Given the description of an element on the screen output the (x, y) to click on. 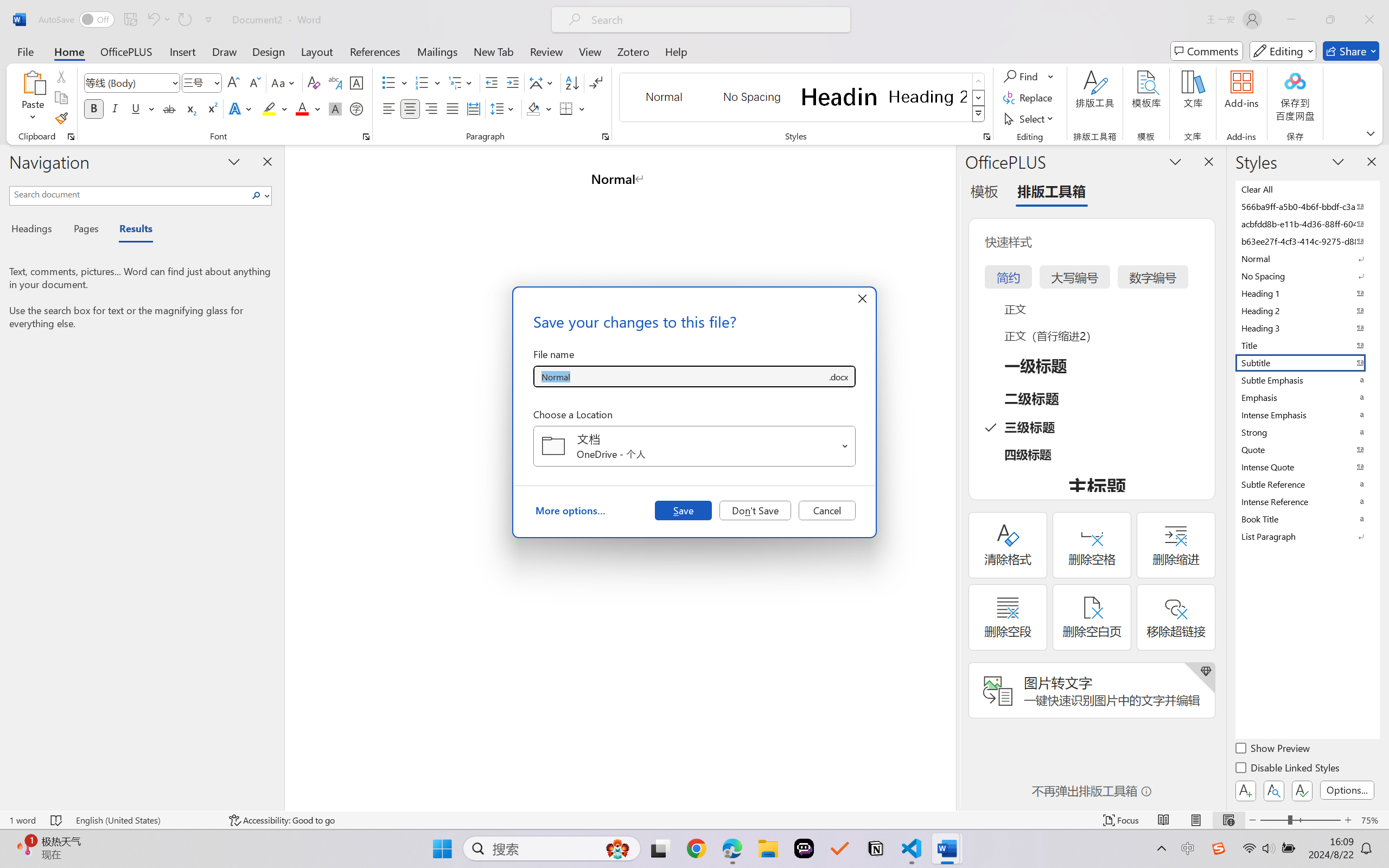
Center (409, 108)
Font Color (308, 108)
Find (1029, 75)
Undo Style (152, 19)
Search (259, 195)
Text Highlight Color (274, 108)
Repeat Style (184, 19)
Google Chrome (696, 848)
Row up (978, 81)
Options... (1346, 789)
Spelling and Grammar Check No Errors (56, 819)
